Given the description of an element on the screen output the (x, y) to click on. 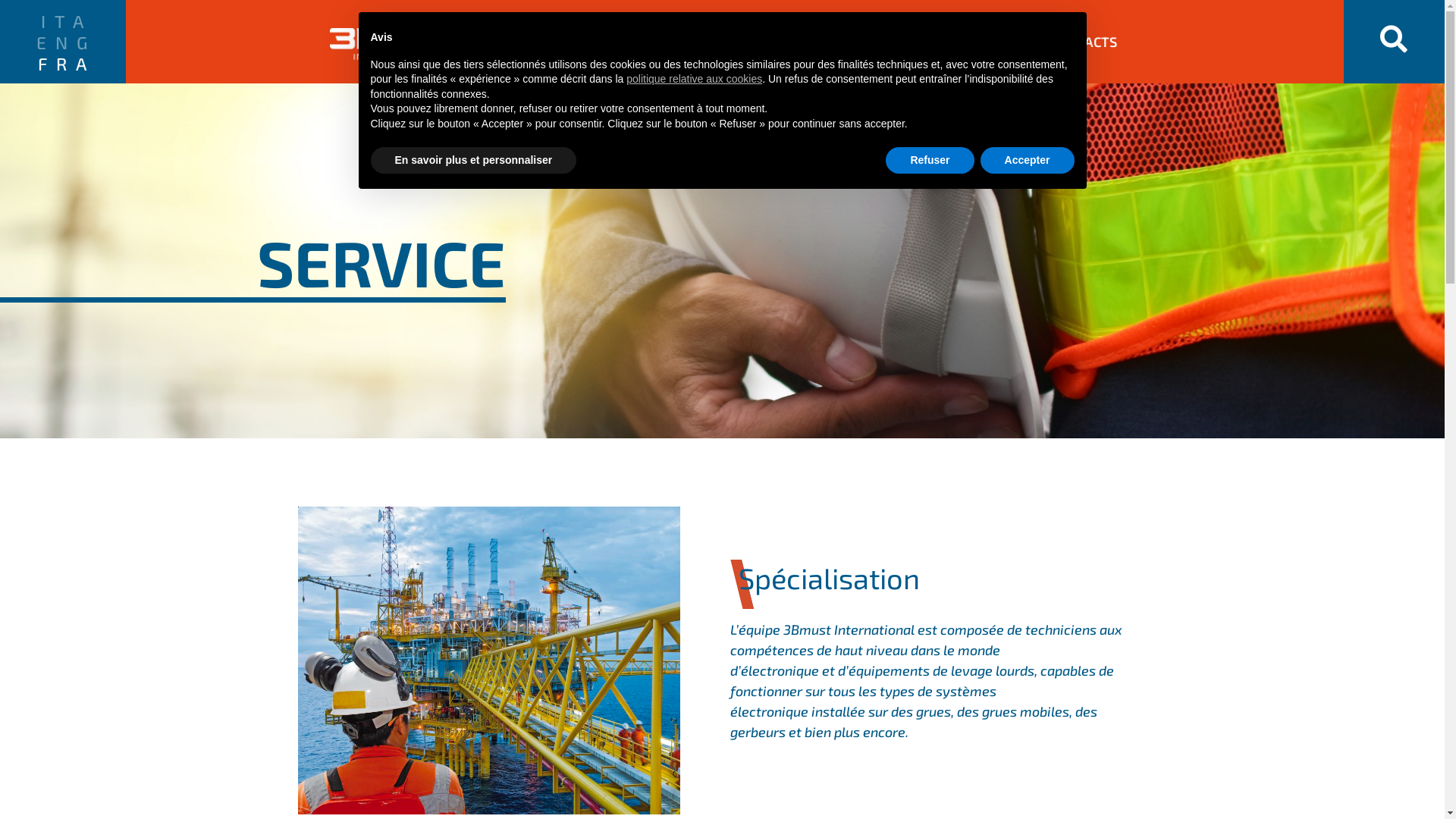
ENTREPRISE Element type: text (964, 41)
ITA Element type: text (62, 20)
En savoir plus et personnaliser Element type: text (473, 160)
CONTACTS Element type: text (1083, 41)
SOLUTIONS Element type: text (555, 41)
ENG Element type: text (62, 41)
SERVICE Element type: text (853, 41)
Refuser Element type: text (929, 160)
politique relative aux cookies Element type: text (694, 78)
Accepter Element type: text (1027, 160)
FRA Element type: text (62, 62)
